Given the description of an element on the screen output the (x, y) to click on. 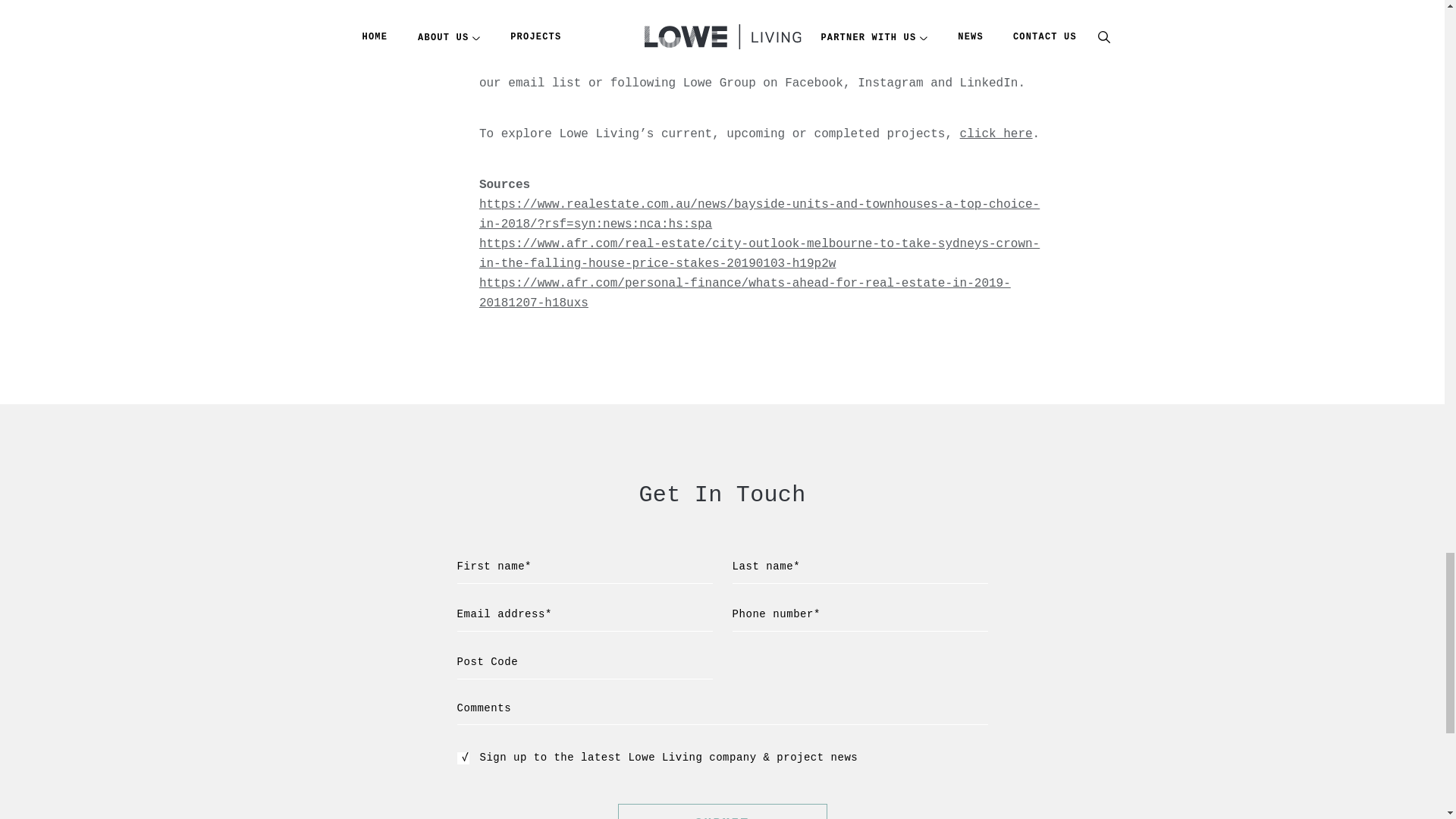
Submit (722, 811)
Submit (722, 811)
click here (995, 133)
